Given the description of an element on the screen output the (x, y) to click on. 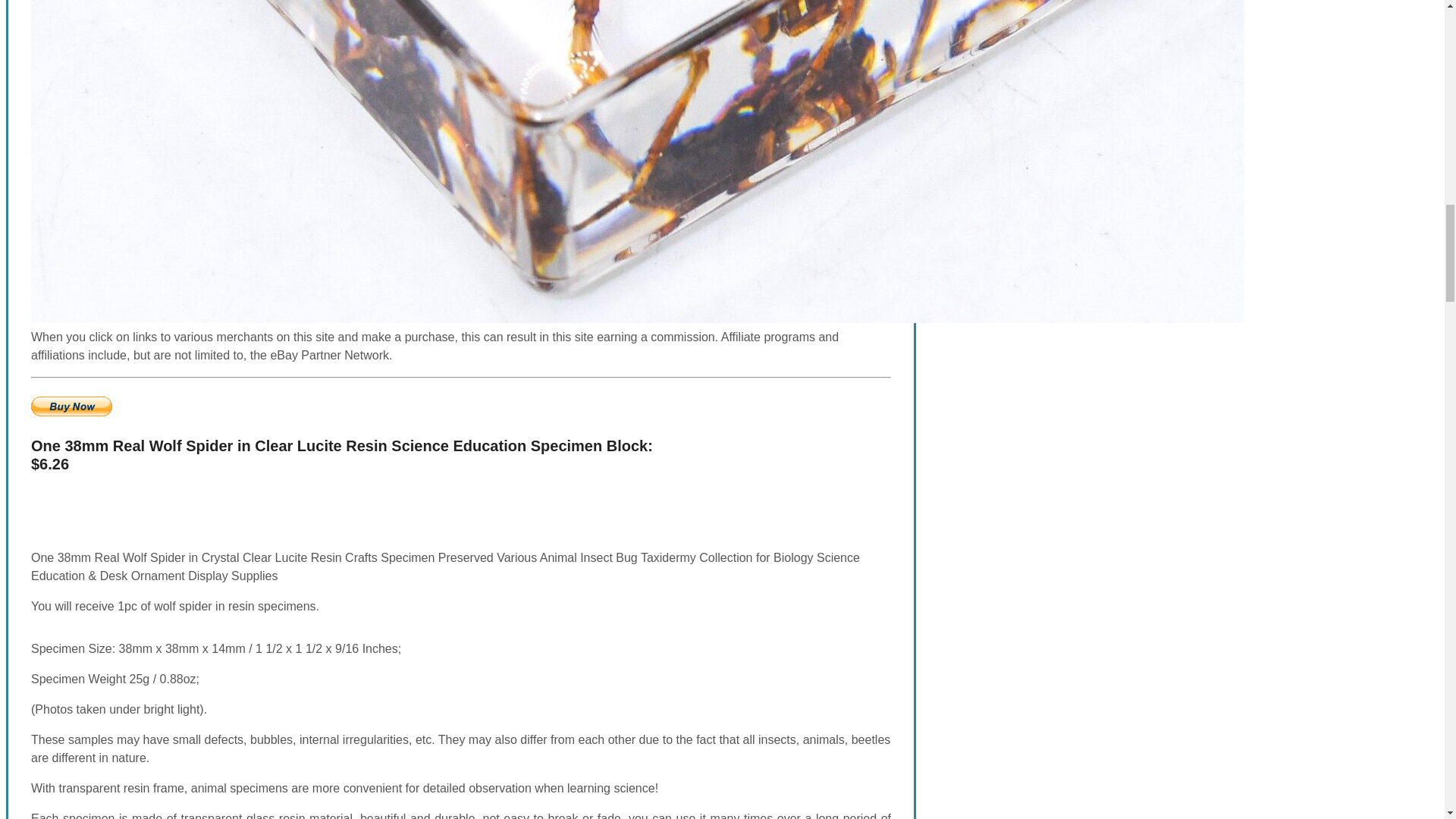
Buy Now (71, 406)
